Given the description of an element on the screen output the (x, y) to click on. 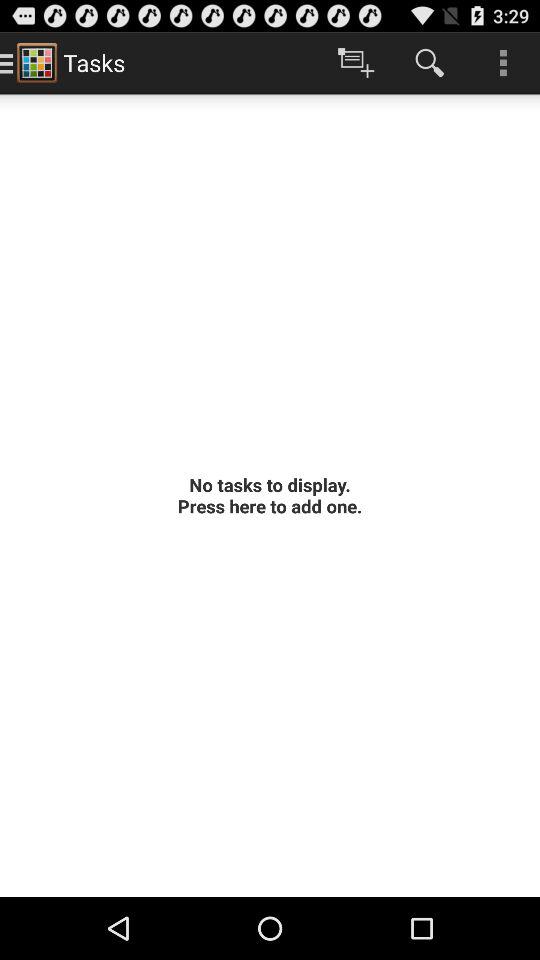
choose item above no tasks to item (429, 62)
